Given the description of an element on the screen output the (x, y) to click on. 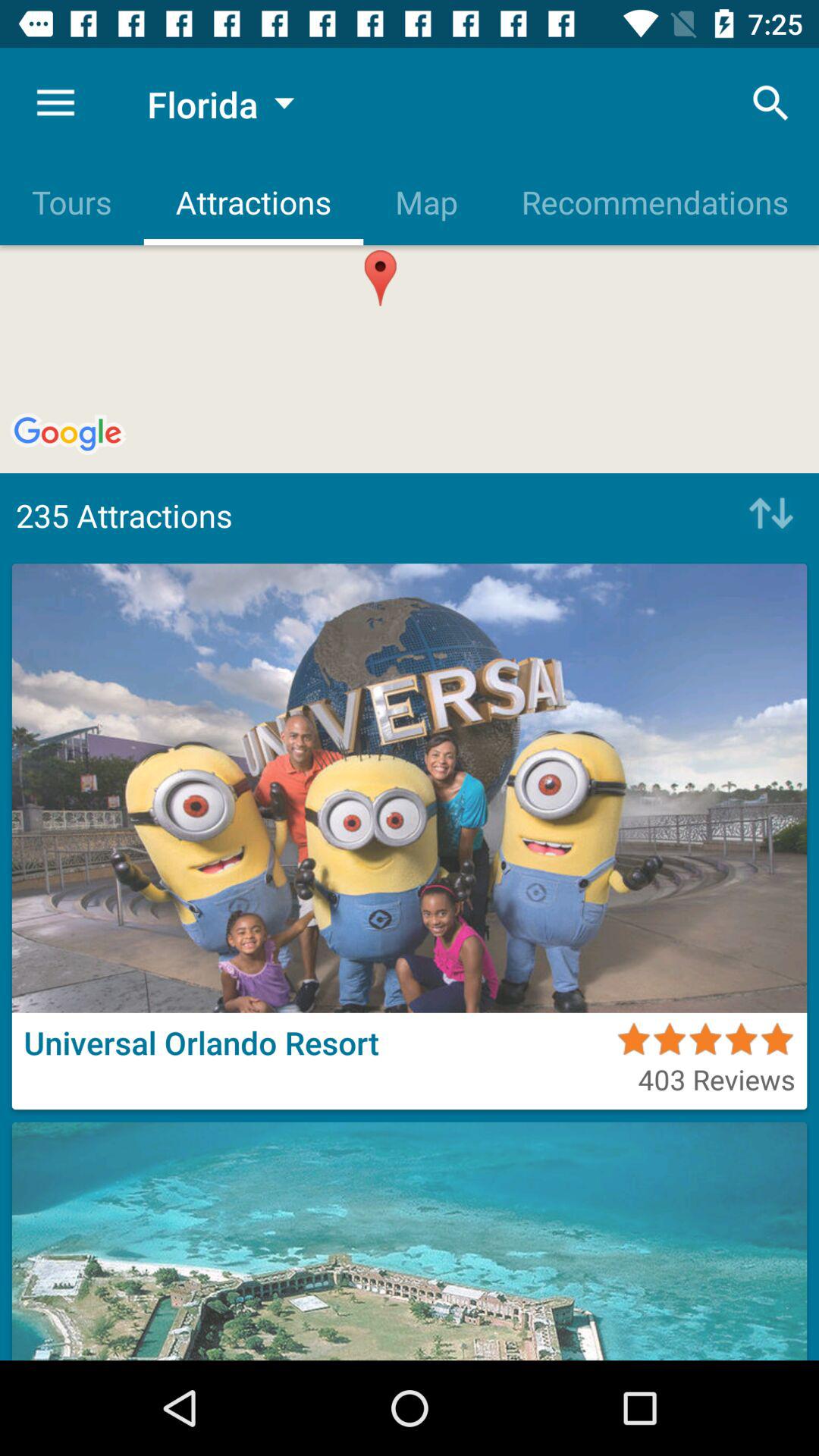
turn off the recommendations item (654, 202)
